Given the description of an element on the screen output the (x, y) to click on. 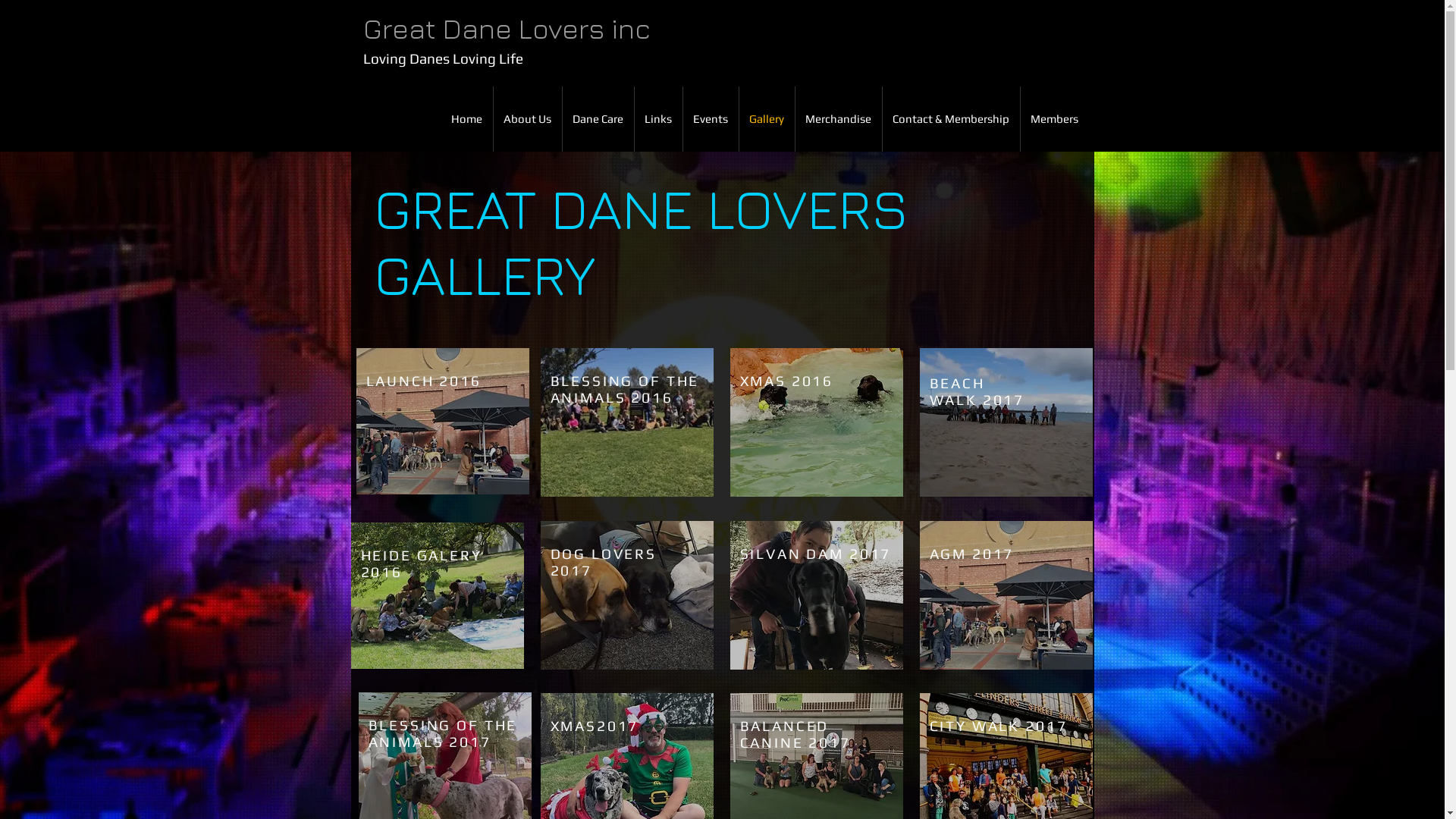
Home Element type: text (465, 118)
Gallery Element type: text (765, 118)
About Us Element type: text (526, 118)
Links Element type: text (657, 118)
Merchandise Element type: text (837, 118)
Contact & Membership Element type: text (950, 118)
Dane Care Element type: text (597, 118)
Members Element type: text (1054, 118)
Events Element type: text (709, 118)
